Given the description of an element on the screen output the (x, y) to click on. 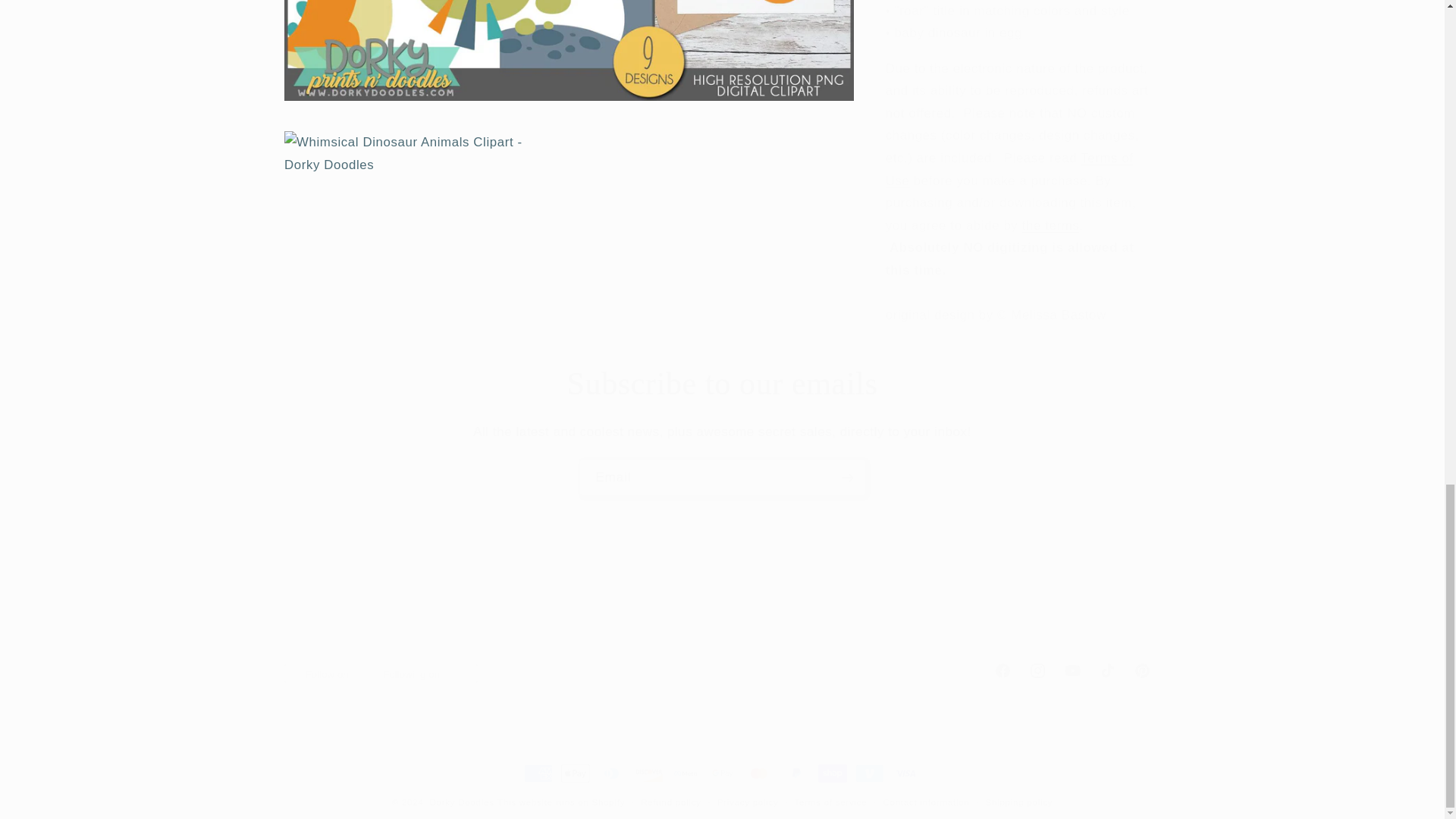
terms of use (721, 669)
Email (1009, 149)
terms of use (722, 477)
Subscribe to our emails (1051, 205)
